Given the description of an element on the screen output the (x, y) to click on. 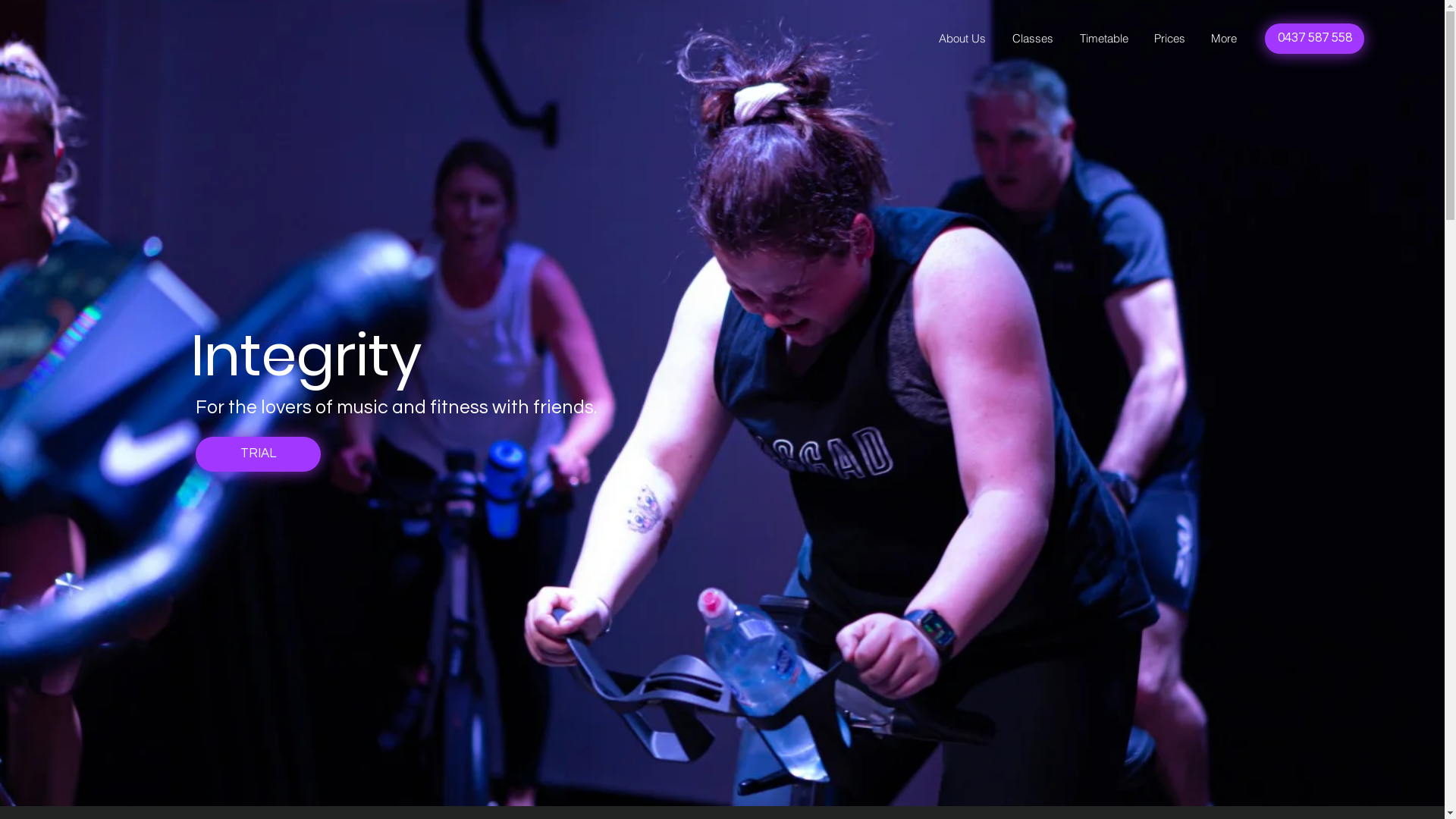
Classes Element type: text (1030, 38)
0437 587 558 Element type: text (1314, 38)
About Us Element type: text (960, 38)
Prices Element type: text (1167, 38)
Timetable Element type: text (1101, 38)
TRIAL Element type: text (257, 453)
